Given the description of an element on the screen output the (x, y) to click on. 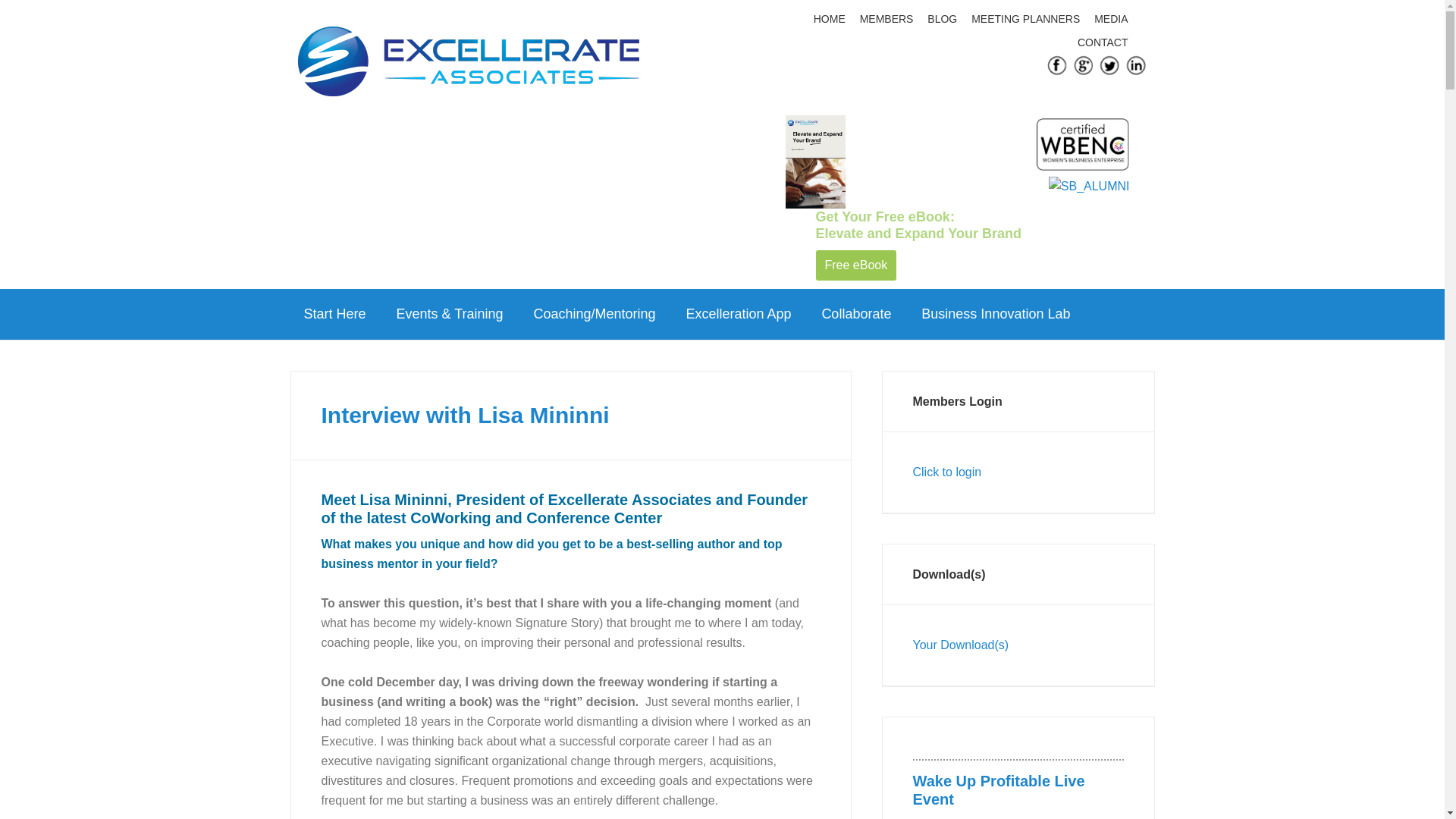
MEETING PLANNERS (1027, 19)
Free eBook (855, 265)
MEDIA (1112, 19)
Start Here (333, 314)
MEMBERS (888, 19)
Excellerate Associates (468, 66)
BLOG (943, 19)
Wake Up Profitable Boot Camp for Business Owners (998, 790)
HOME (831, 19)
CONTACT (1104, 42)
